Given the description of an element on the screen output the (x, y) to click on. 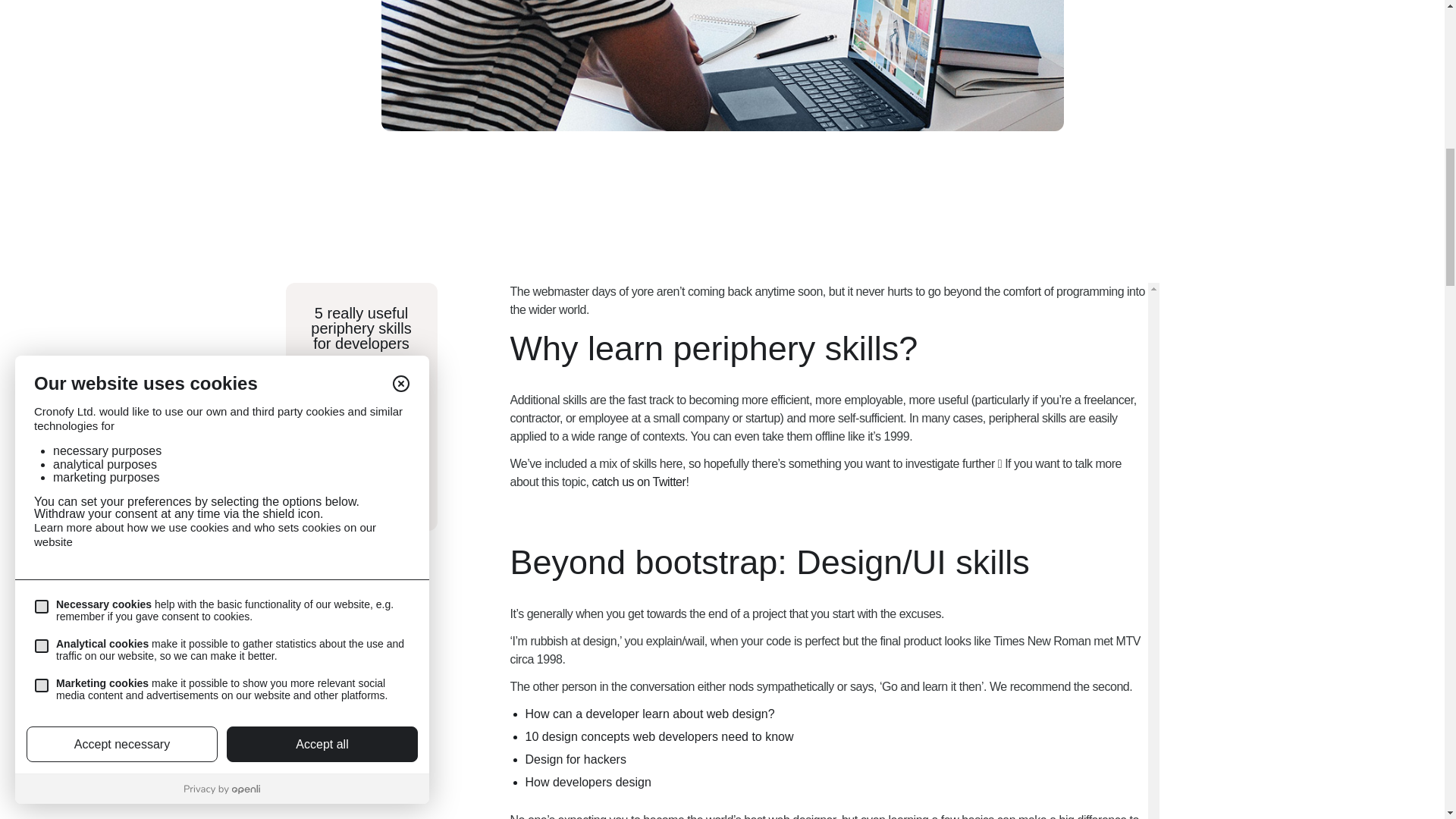
10 design concepts web developers need to know (361, 443)
How can a developer learn about web design? (658, 736)
How developers design (649, 713)
catch us on Twitter (587, 781)
Design for hackers (638, 481)
